Given the description of an element on the screen output the (x, y) to click on. 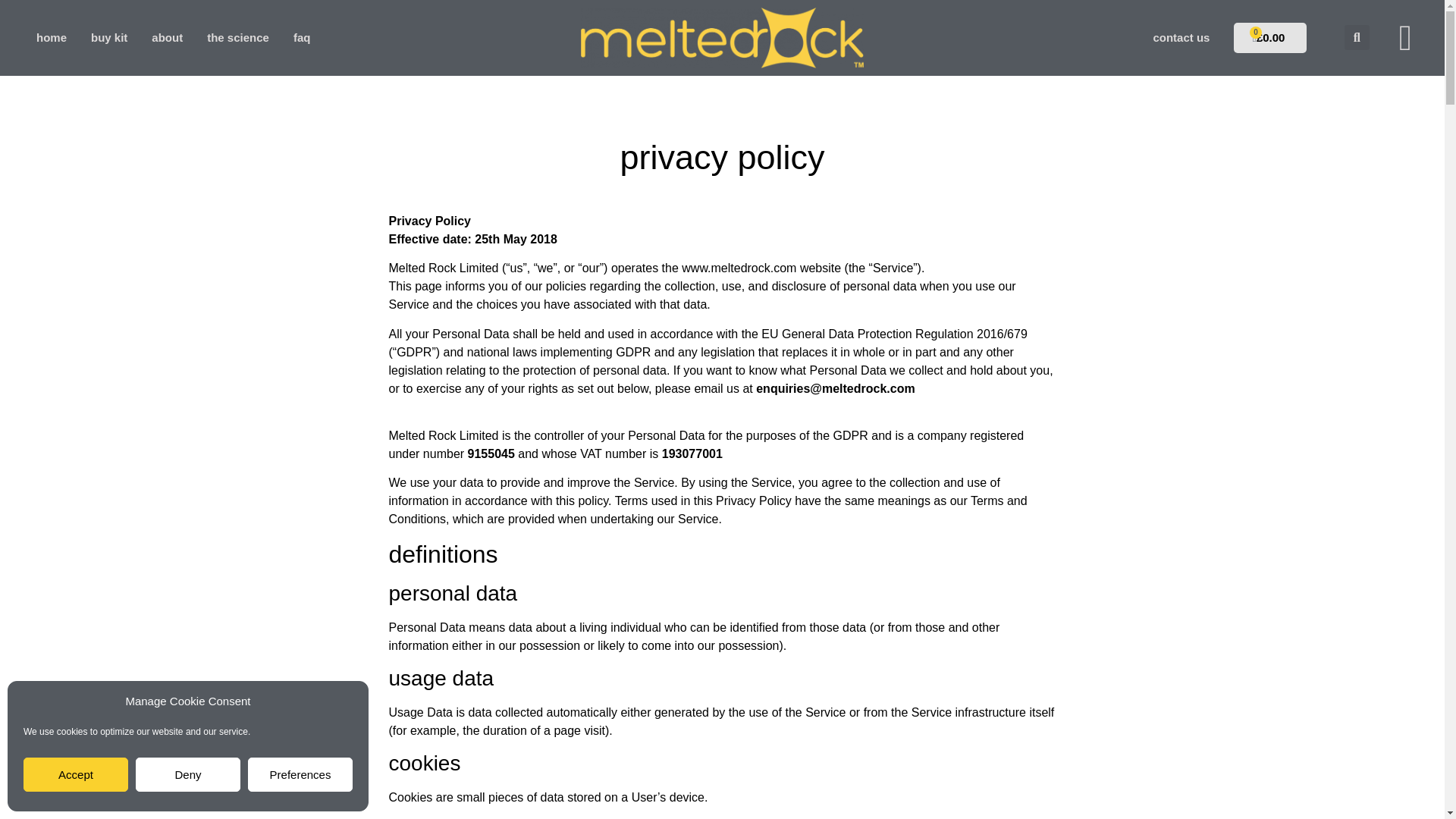
privacy policy (721, 157)
the science (185, 37)
Preferences (237, 37)
contact us (299, 774)
about (1181, 37)
Deny (167, 37)
faq (187, 774)
home (302, 37)
contact us (51, 37)
